Given the description of an element on the screen output the (x, y) to click on. 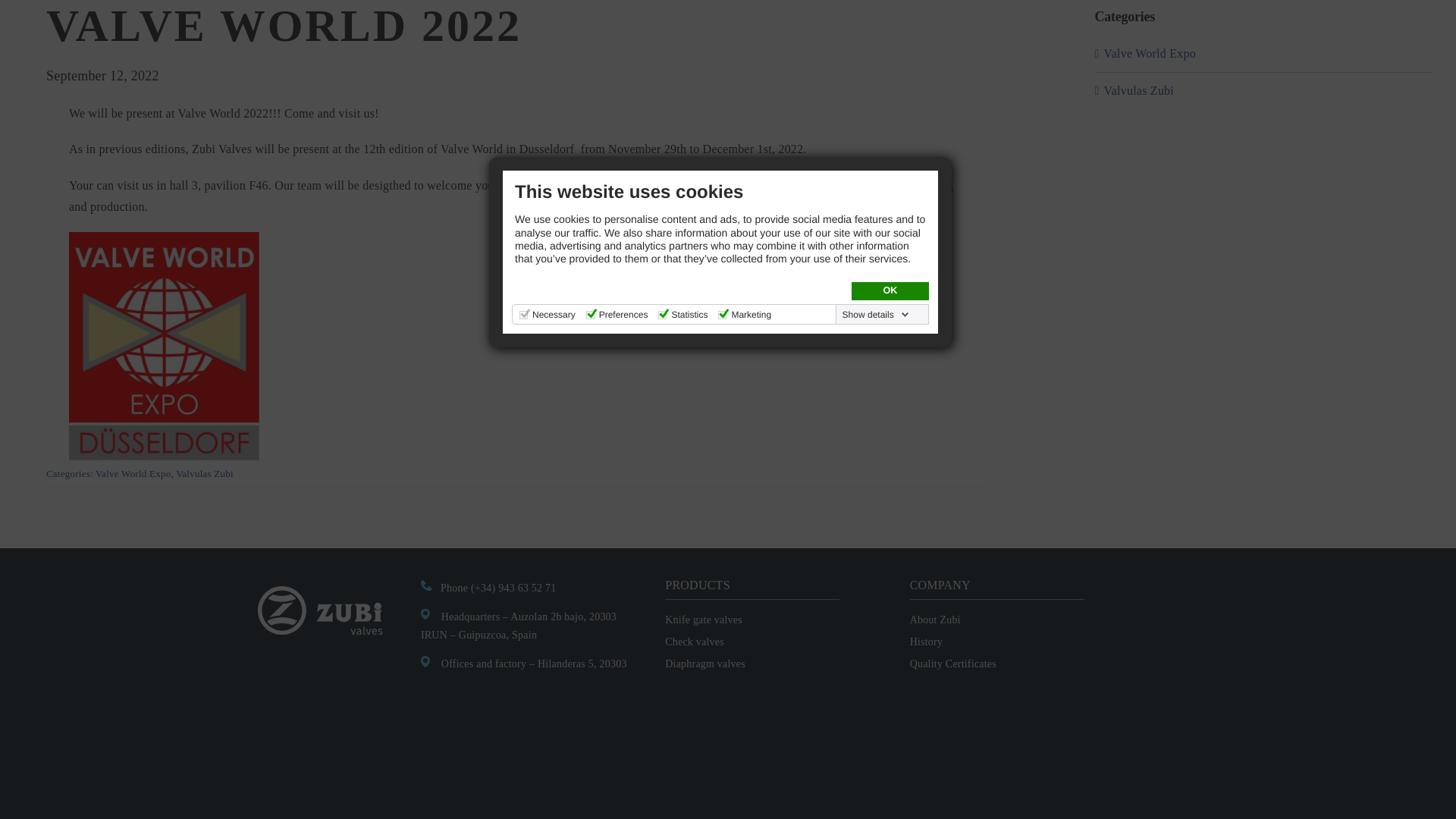
OK (889, 145)
Show details (876, 168)
